Given the description of an element on the screen output the (x, y) to click on. 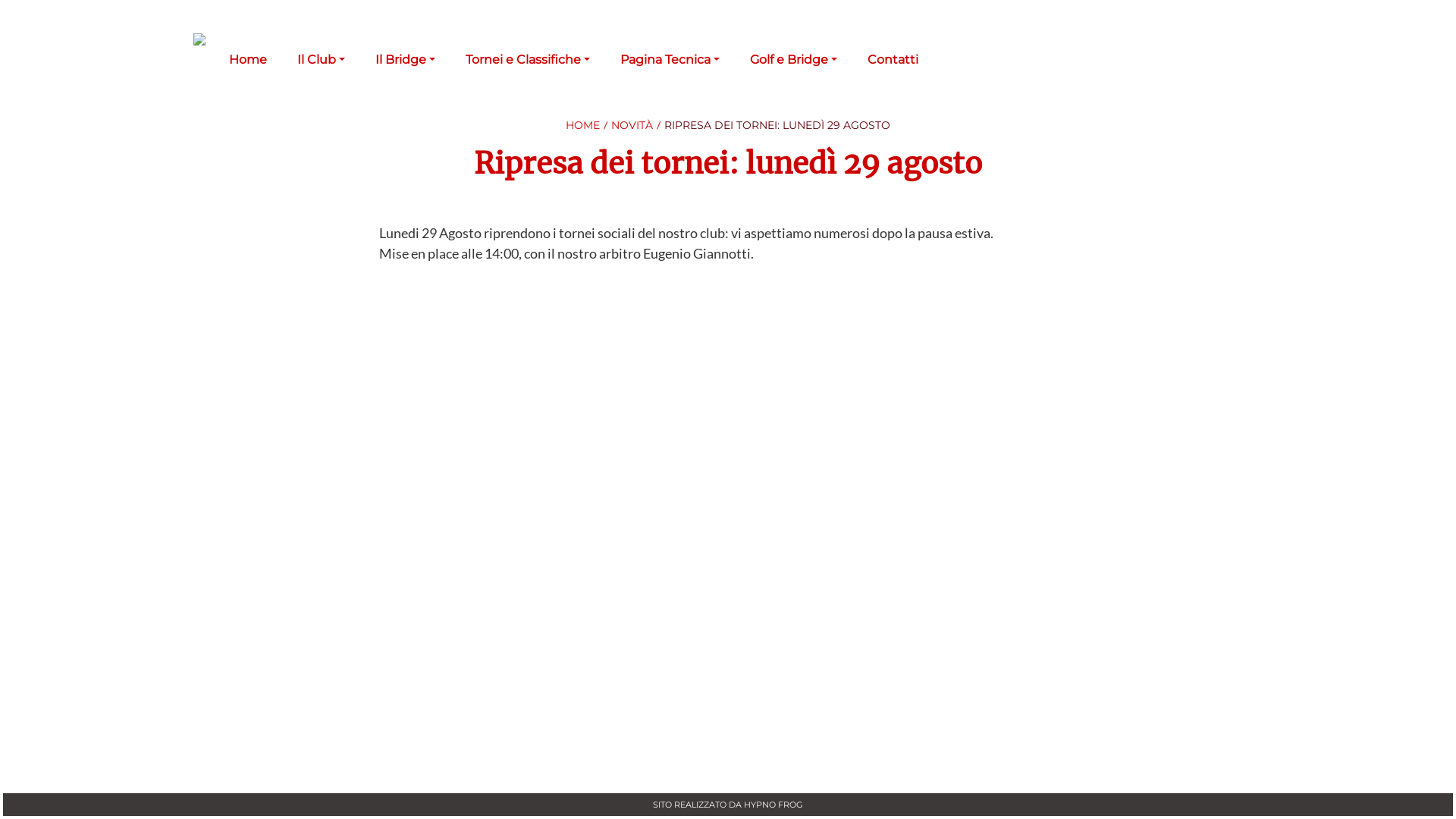
SITO REALIZZATO DA HYPNO FROG Element type: text (727, 804)
Tornei e Classifiche Element type: text (527, 59)
Il Club Element type: text (320, 59)
Golf e Bridge Element type: text (793, 59)
Contatti Element type: text (892, 59)
Home Element type: text (247, 59)
HOME Element type: text (582, 124)
Pagina Tecnica Element type: text (669, 59)
Il Bridge Element type: text (405, 59)
